Given the description of an element on the screen output the (x, y) to click on. 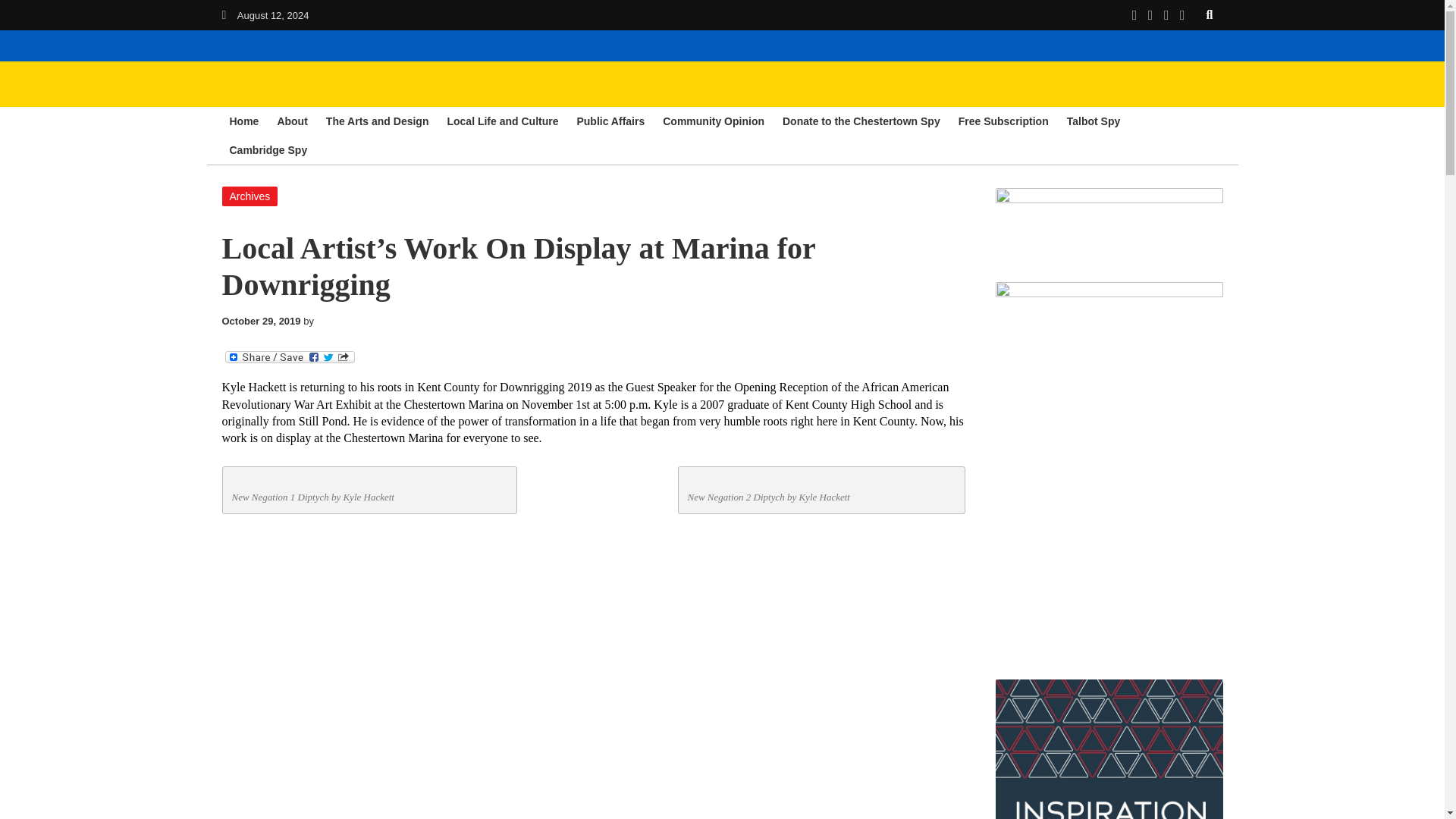
Search (1209, 14)
Search (1209, 14)
Search (1209, 14)
